Given the description of an element on the screen output the (x, y) to click on. 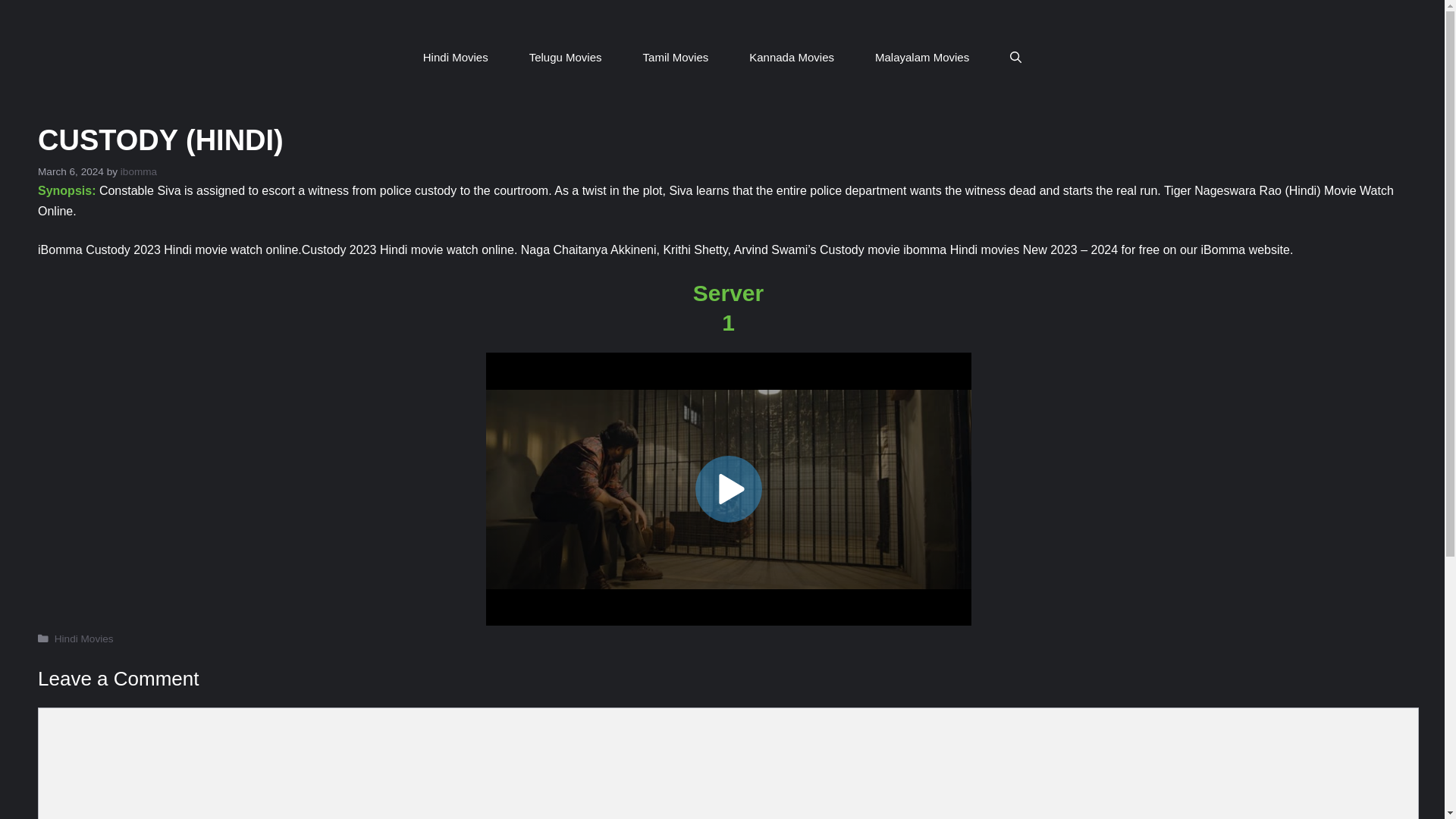
iBomma Custody 2023 (98, 249)
Tamil Movies (676, 57)
Hindi Movies (455, 57)
Malayalam Movies (922, 57)
View all posts by ibomma (138, 171)
Hindi Movies (84, 638)
Kannada Movies (791, 57)
ibomma (138, 171)
Telugu Movies (565, 57)
